Given the description of an element on the screen output the (x, y) to click on. 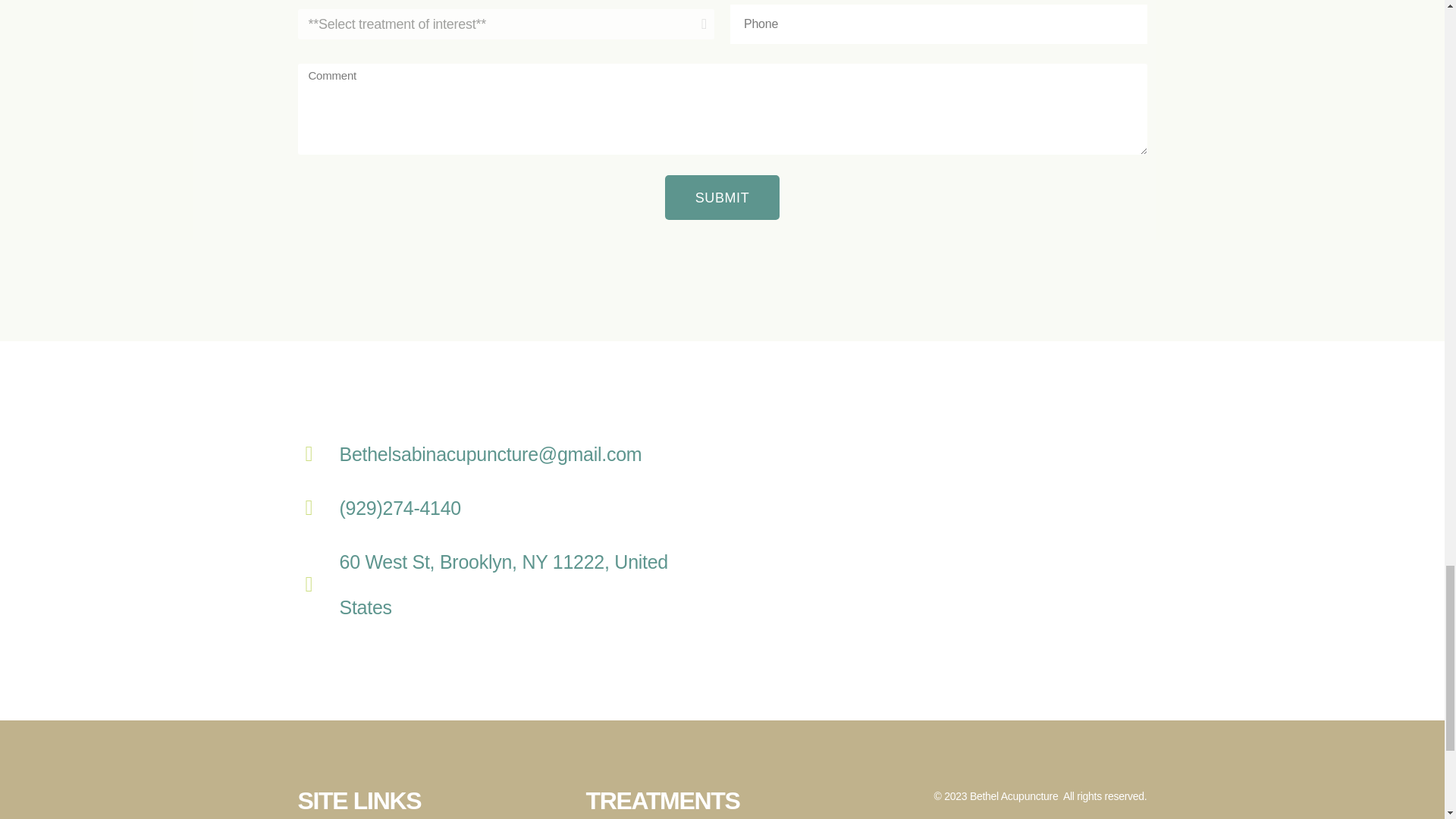
SUBMIT (722, 197)
 60 West St, Brooklyn, NY 11222, United States (933, 530)
